Given the description of an element on the screen output the (x, y) to click on. 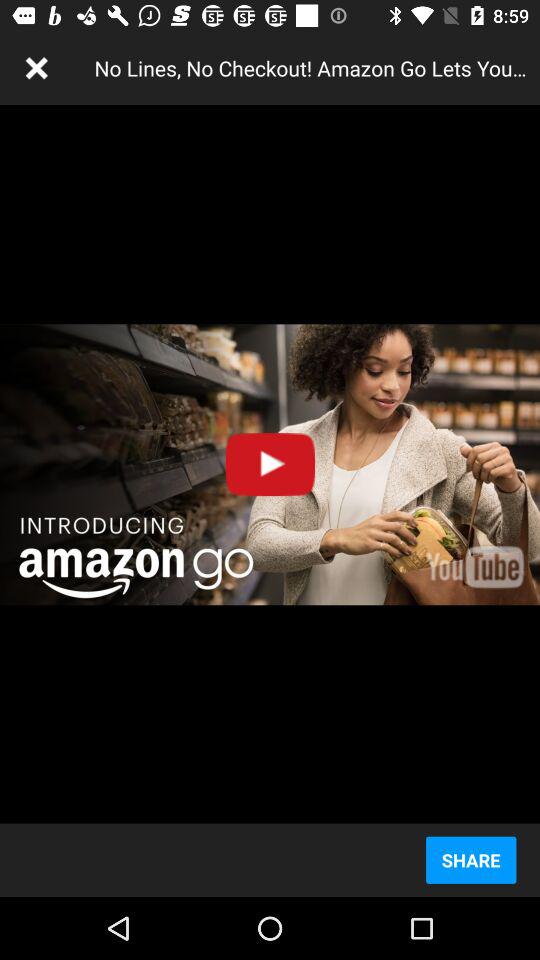
launch the item to the left of no lines no item (36, 68)
